Given the description of an element on the screen output the (x, y) to click on. 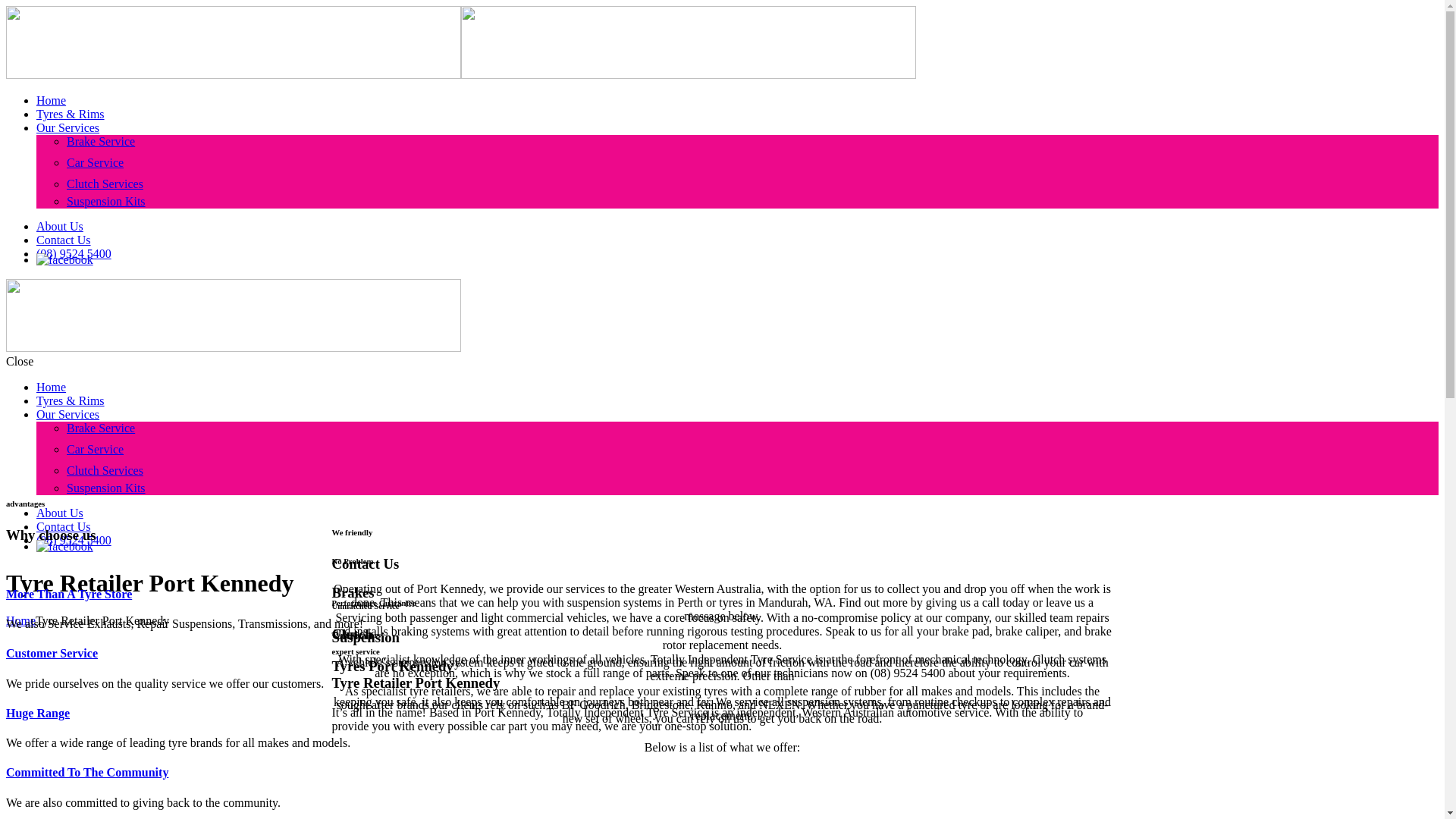
About Us Element type: text (59, 225)
Home Element type: text (50, 386)
(08) 9524 5400 Element type: text (73, 539)
Our Services Element type: text (67, 413)
Contact Us Element type: text (63, 239)
Customer Service Element type: text (51, 652)
Clutch Services Element type: text (104, 470)
Suspension Kits Element type: text (105, 200)
Home Element type: text (20, 620)
Home Element type: text (50, 100)
Car Service Element type: text (94, 448)
About Us Element type: text (59, 512)
Huge Range Element type: text (37, 712)
Brake Service Element type: text (100, 140)
Suspension Kits Element type: text (105, 487)
facebook Element type: hover (64, 546)
Committed To The Community Element type: text (87, 771)
More Than A Tyre Store Element type: text (68, 593)
Car Service Element type: text (94, 162)
facebook Element type: hover (64, 259)
Clutch Services Element type: text (104, 183)
Brake Service Element type: text (100, 427)
Tyres & Rims Element type: text (70, 113)
Contact Us Element type: text (63, 526)
Our Services Element type: text (67, 127)
Tyres & Rims Element type: text (70, 400)
(08) 9524 5400 Element type: text (73, 253)
